Given the description of an element on the screen output the (x, y) to click on. 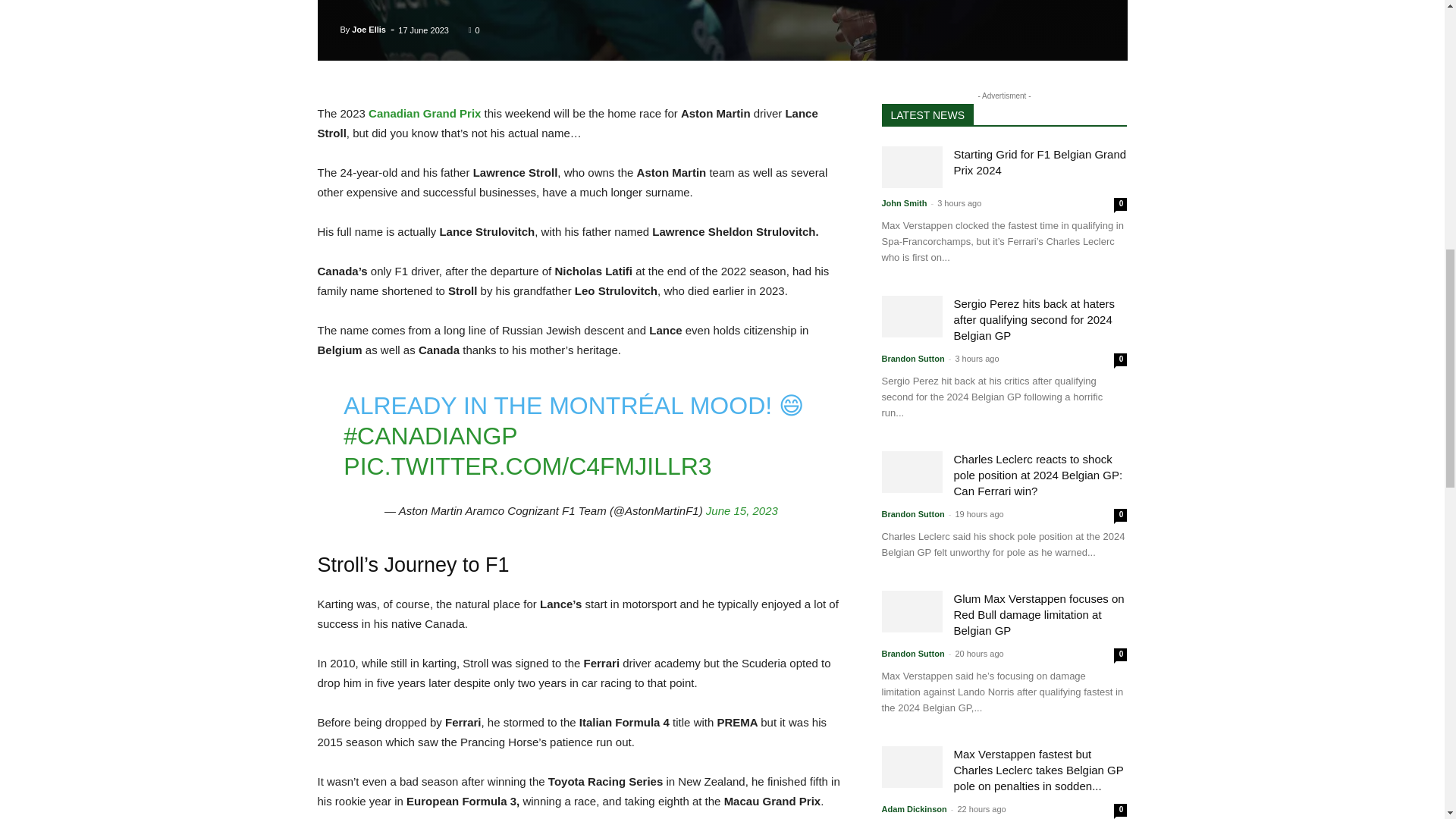
Joe Ellis (368, 29)
0 (474, 29)
